Given the description of an element on the screen output the (x, y) to click on. 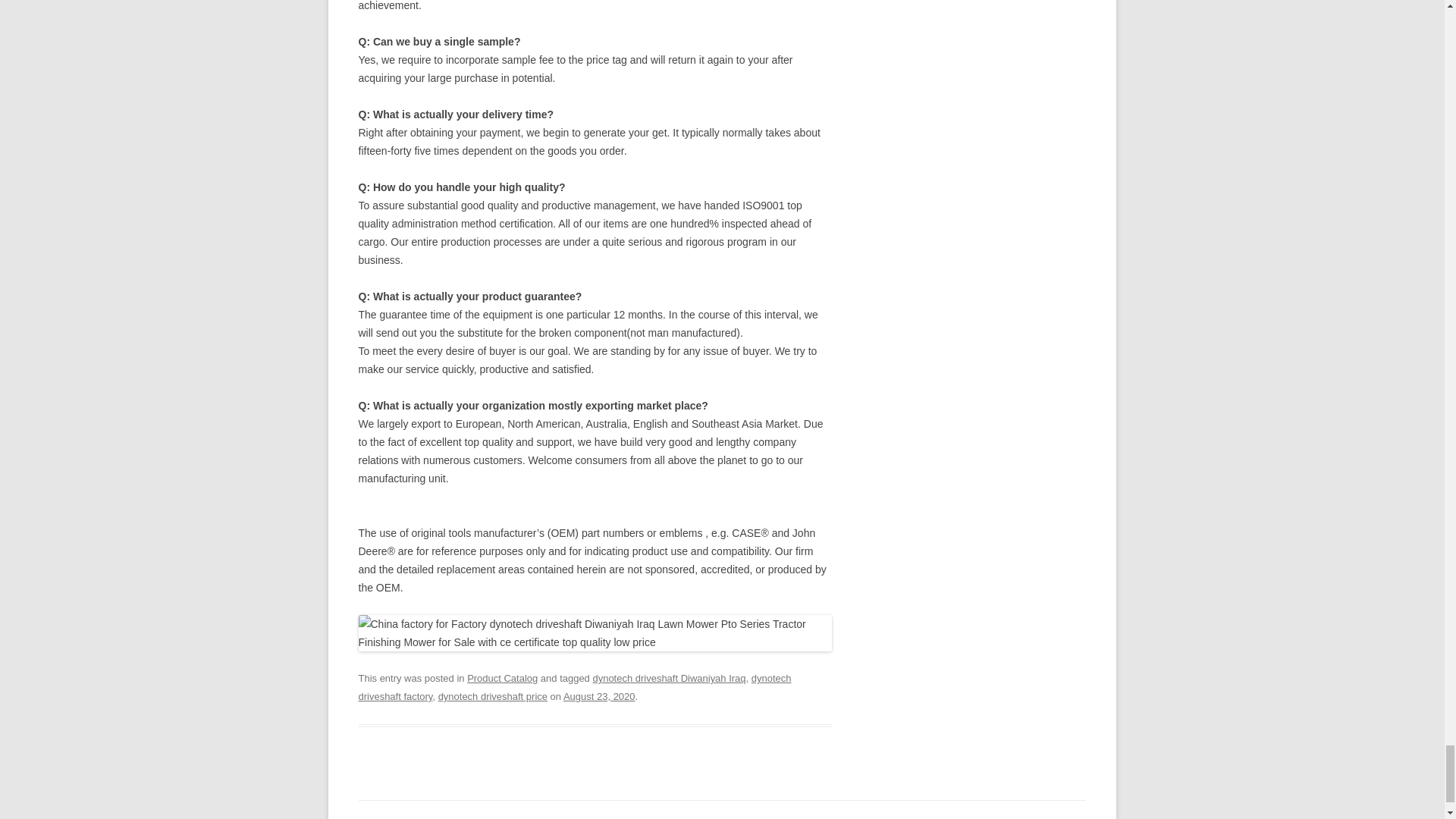
5:22 am (598, 696)
dynotech driveshaft factory (574, 686)
dynotech driveshaft price (492, 696)
August 23, 2020 (598, 696)
Product Catalog (502, 677)
dynotech driveshaft Diwaniyah Iraq (668, 677)
